Given the description of an element on the screen output the (x, y) to click on. 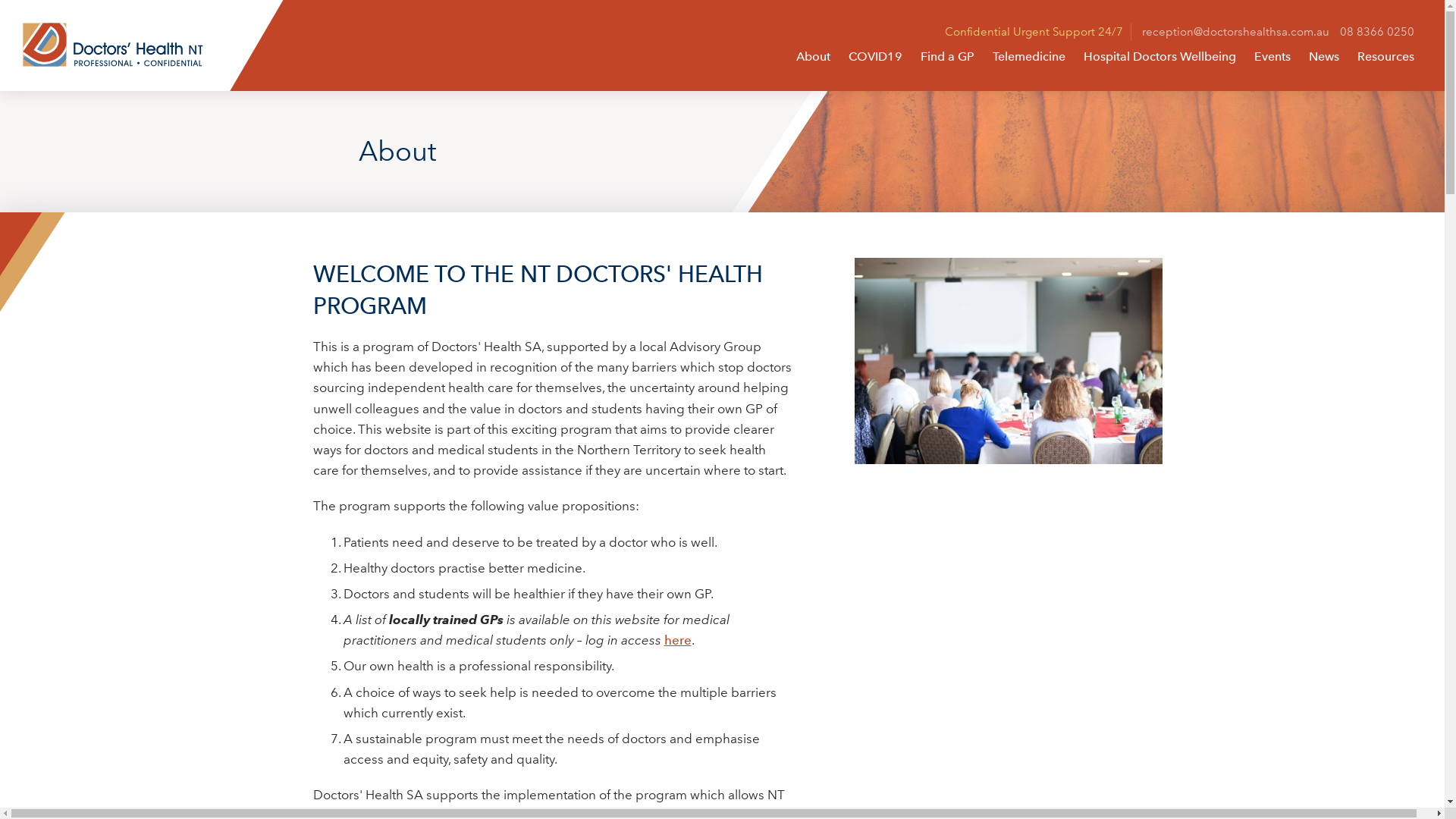
Find a GP Element type: text (947, 56)
reception@doctorshealthsa.com.au Element type: text (1235, 31)
Resources Element type: text (1385, 56)
COVID19 Element type: text (875, 56)
Confidential Urgent Support 24/7 Element type: text (1037, 31)
About Element type: text (812, 56)
Hospital Doctors Wellbeing Element type: text (1159, 56)
News Element type: text (1323, 56)
08 8366 0250 Element type: text (1376, 31)
here Element type: text (677, 639)
Telemedicine Element type: text (1029, 56)
Events Element type: text (1272, 56)
